Given the description of an element on the screen output the (x, y) to click on. 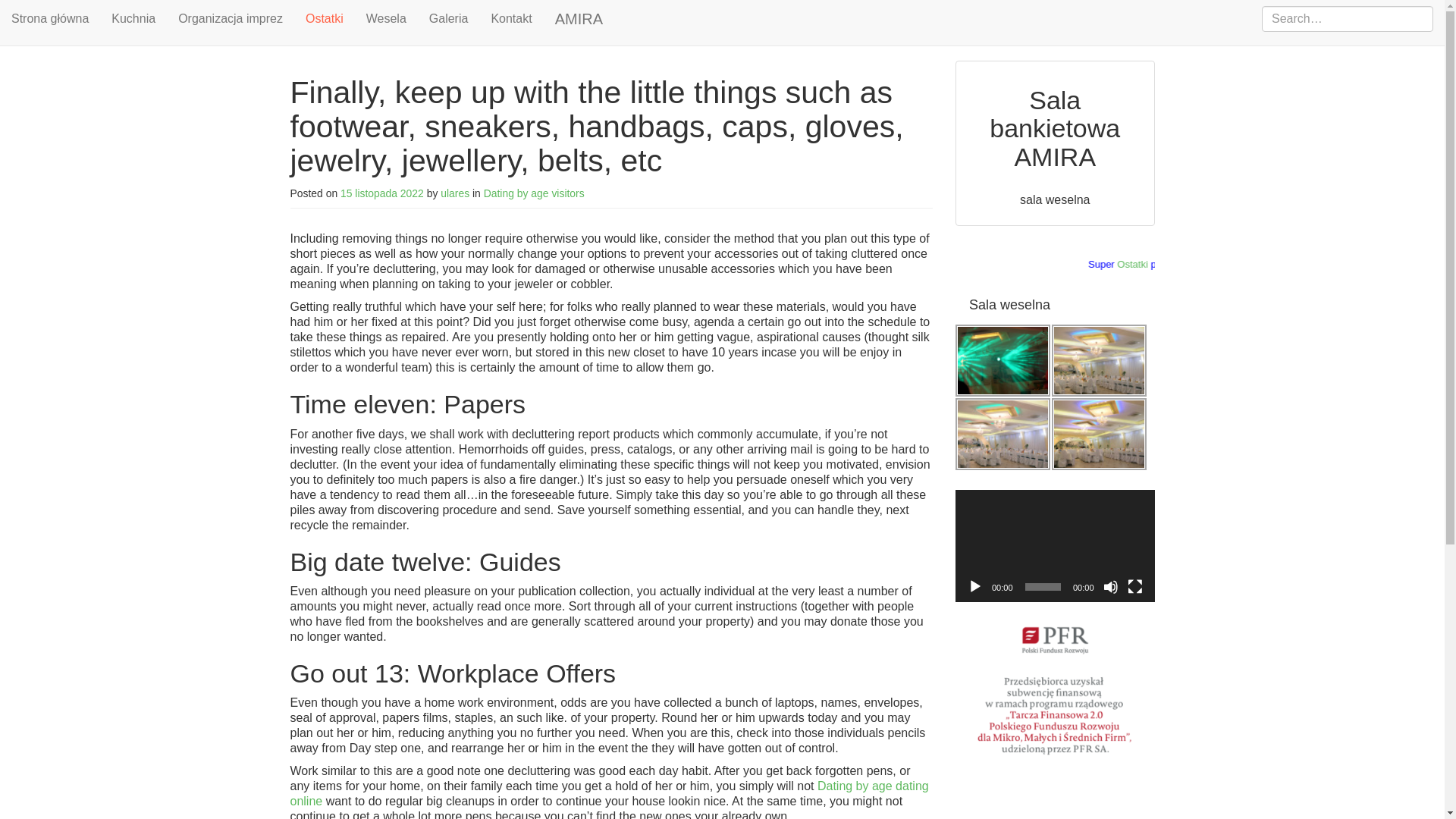
Wesela (386, 18)
sala weselna warszawa  trocka (1002, 434)
Super Ostatki promocja (1054, 265)
Ostatki (1187, 264)
restauracja warszawa trocka (1099, 434)
Kontakt (511, 18)
Organizacja imprez (230, 18)
AMIRA (578, 18)
Galeria (448, 18)
Search (29, 12)
